Given the description of an element on the screen output the (x, y) to click on. 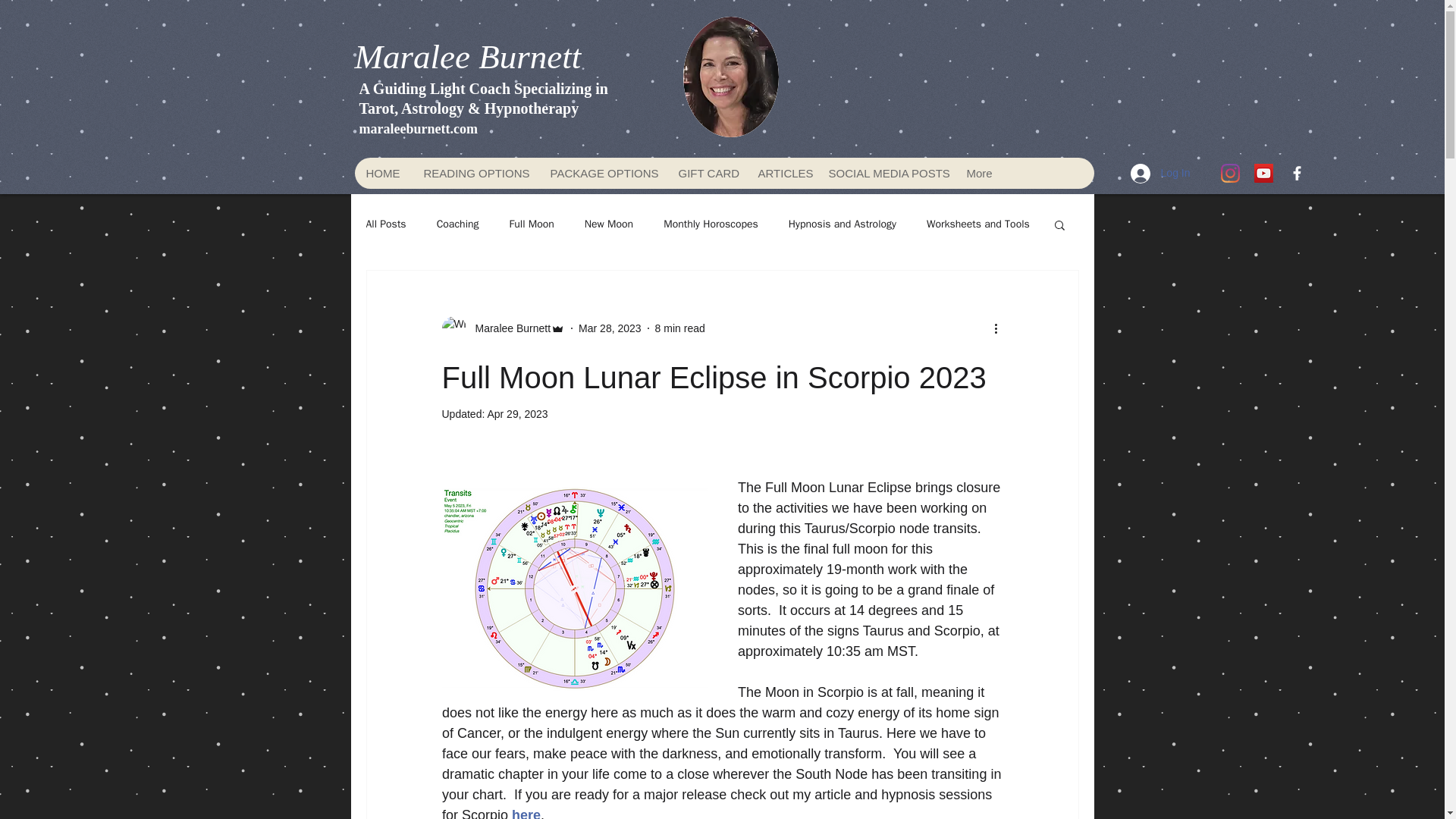
New Moon (609, 223)
SOCIAL MEDIA POSTS (884, 173)
READING OPTIONS (473, 173)
Worksheets and Tools (977, 223)
Maralee Burnett (502, 328)
Mar 28, 2023 (610, 327)
Maralee Burnett (507, 327)
PACKAGE OPTIONS (602, 173)
All Posts (385, 223)
GIFT CARD (705, 173)
